Given the description of an element on the screen output the (x, y) to click on. 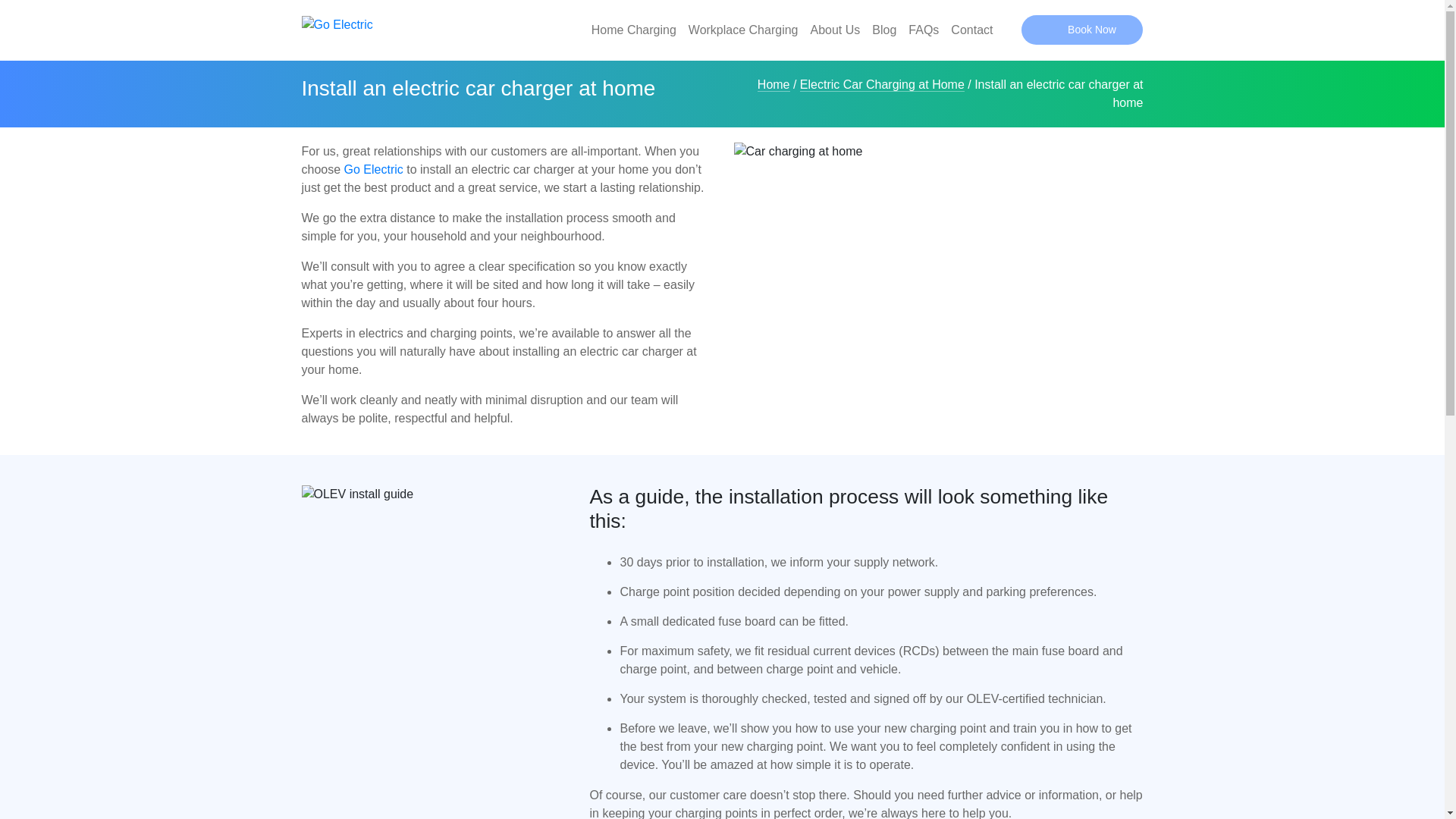
Home (773, 84)
Electric Car Charging at Home (881, 84)
Contact (971, 30)
About Us (834, 30)
Blog (884, 30)
Home Charging (633, 30)
Go Electric (373, 169)
Book Now (1082, 30)
FAQs (923, 30)
Workplace Charging (743, 30)
